Given the description of an element on the screen output the (x, y) to click on. 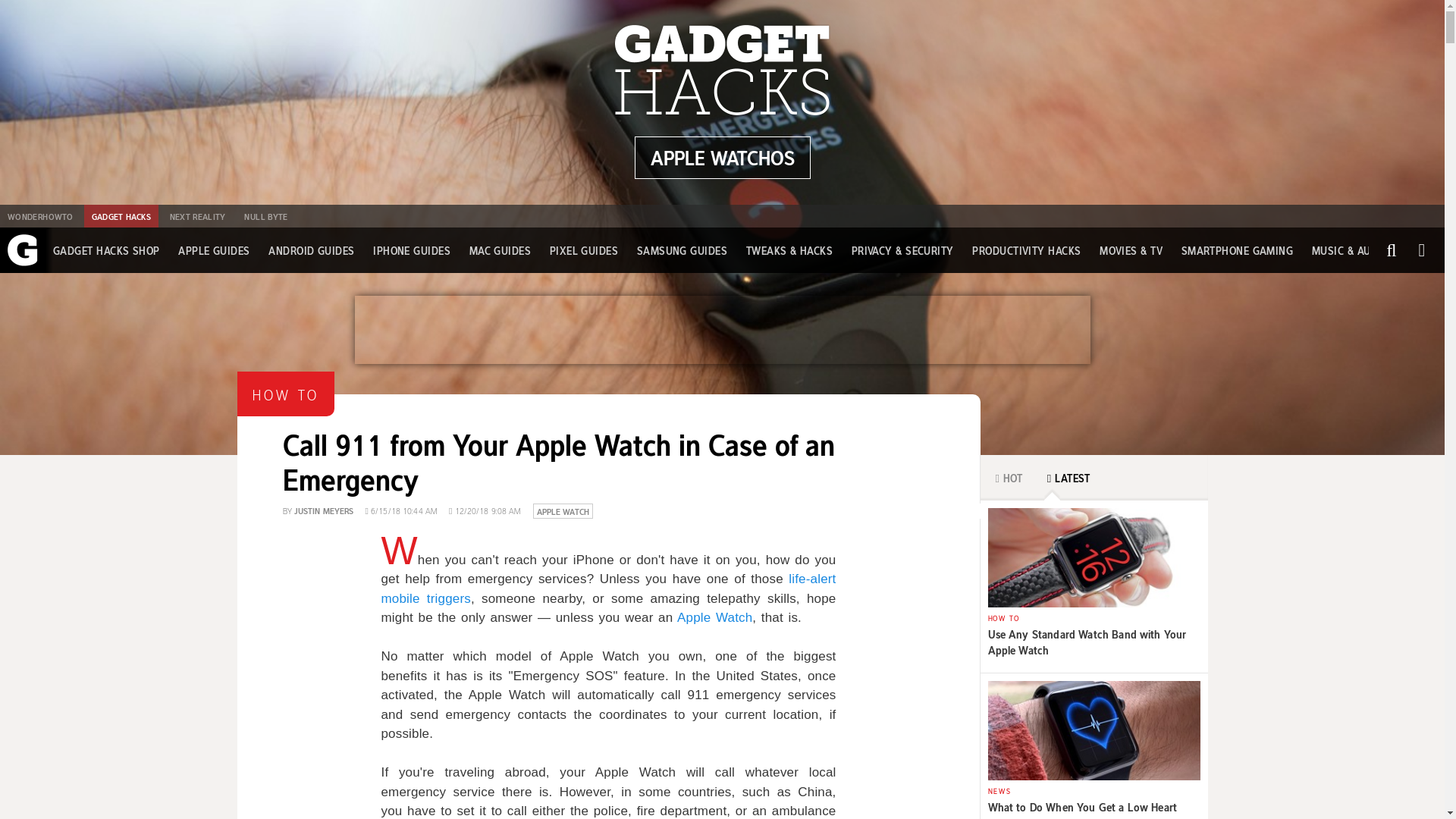
IPHONE GUIDES (410, 249)
Apple watchOS (721, 157)
PIXEL GUIDES (583, 249)
APPLE WATCH (563, 510)
MAC GUIDES (499, 249)
JUSTIN MEYERS (323, 509)
life-alert mobile triggers (607, 588)
PRODUCTIVITY HACKS (1026, 249)
SMARTPHONE GAMING (1237, 249)
